Given the description of an element on the screen output the (x, y) to click on. 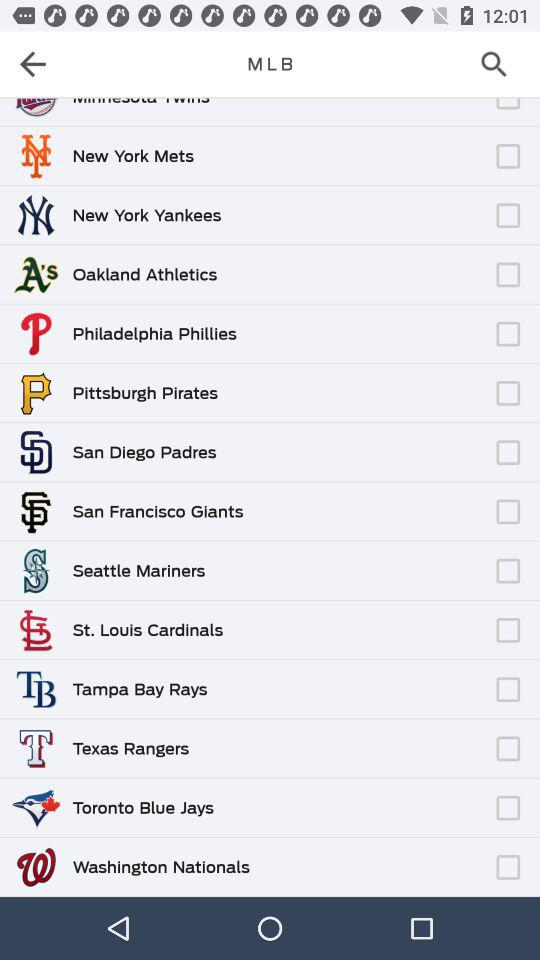
open a search (500, 64)
